Given the description of an element on the screen output the (x, y) to click on. 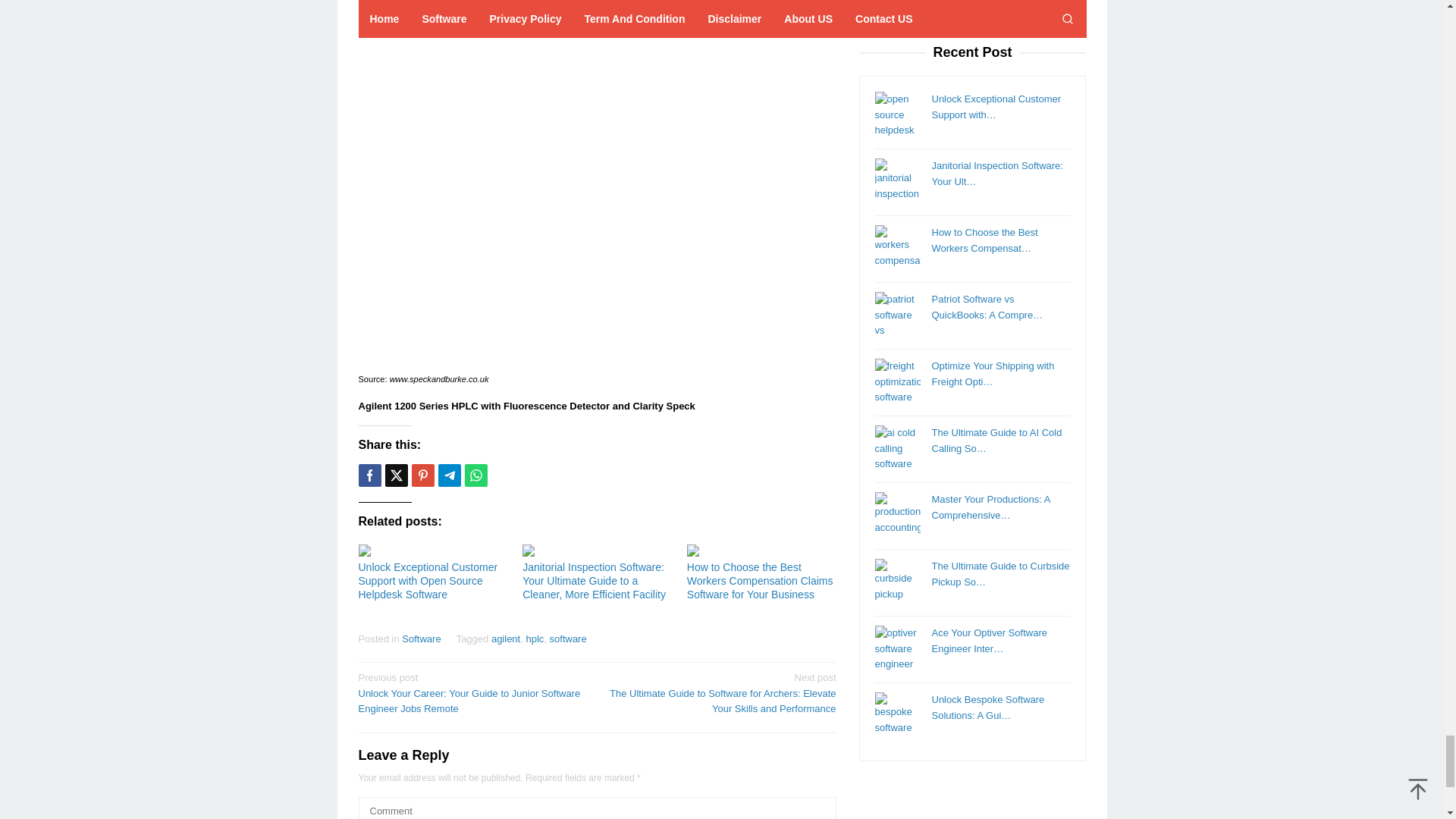
Tweet this (396, 475)
Whatsapp (475, 475)
